Given the description of an element on the screen output the (x, y) to click on. 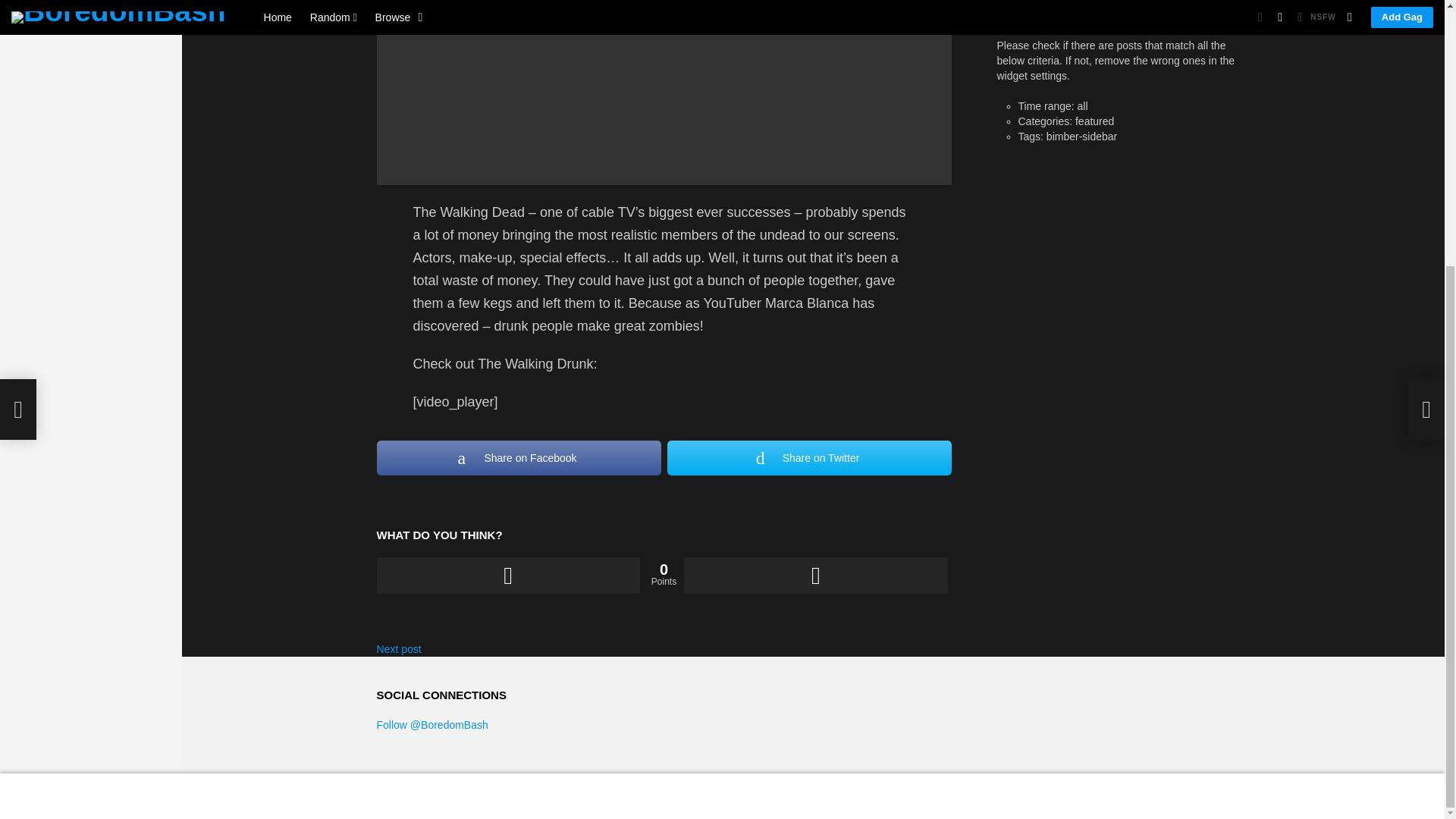
Downvote (815, 575)
Next post (397, 648)
Share on Share on Facebook (660, 412)
Upvote (507, 575)
Share on Facebook (518, 457)
Downvote (815, 575)
Share on Twitter (809, 457)
Share on Share on Facebook (518, 457)
Share on Share on Twitter (787, 412)
Share on Share on Twitter (809, 457)
Upvote (507, 575)
